Given the description of an element on the screen output the (x, y) to click on. 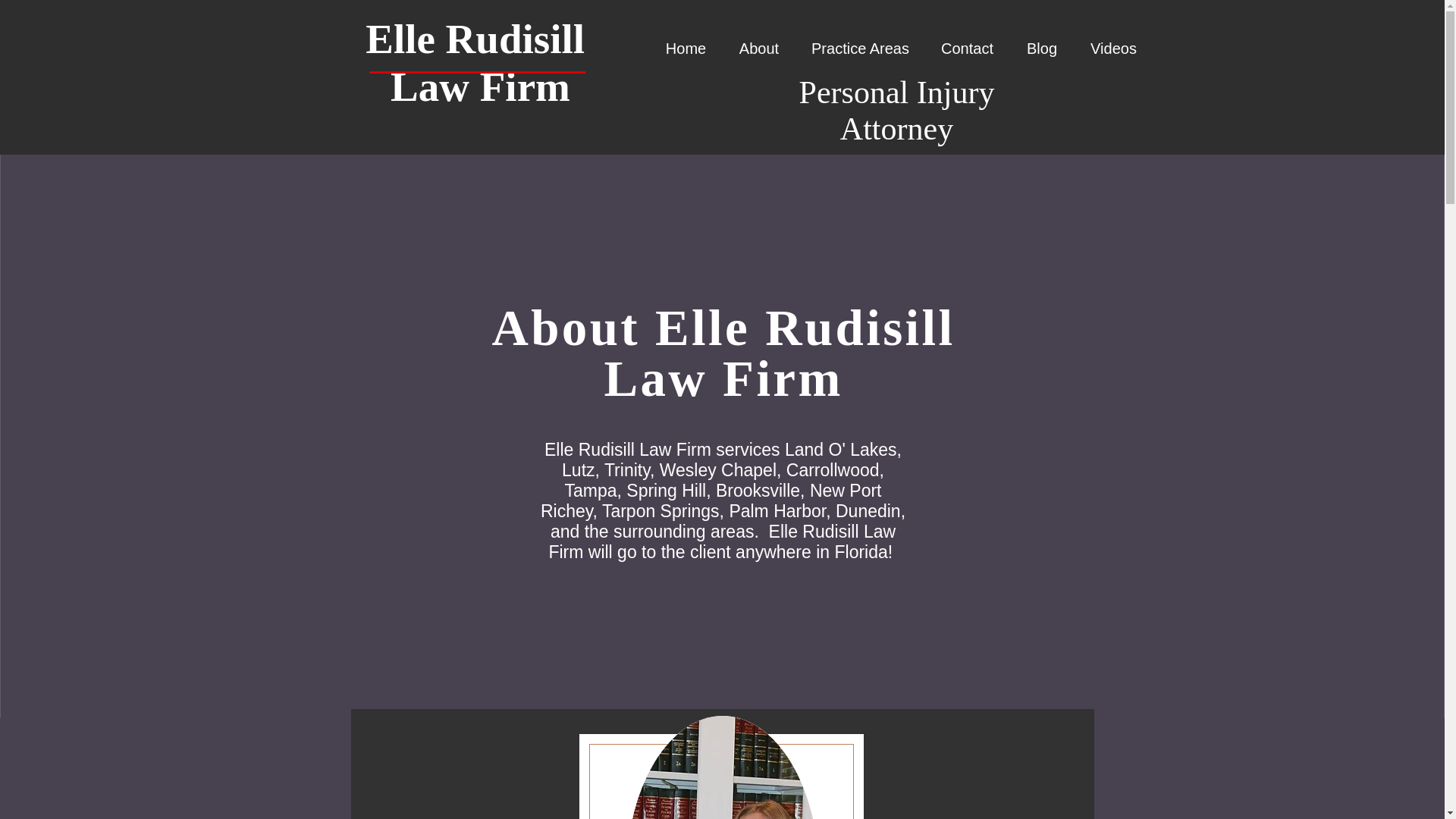
CALL NOW (1374, 36)
Contact (967, 48)
About (758, 48)
Practice Areas (860, 48)
Home (685, 48)
Videos (1113, 48)
Blog (1042, 48)
